Given the description of an element on the screen output the (x, y) to click on. 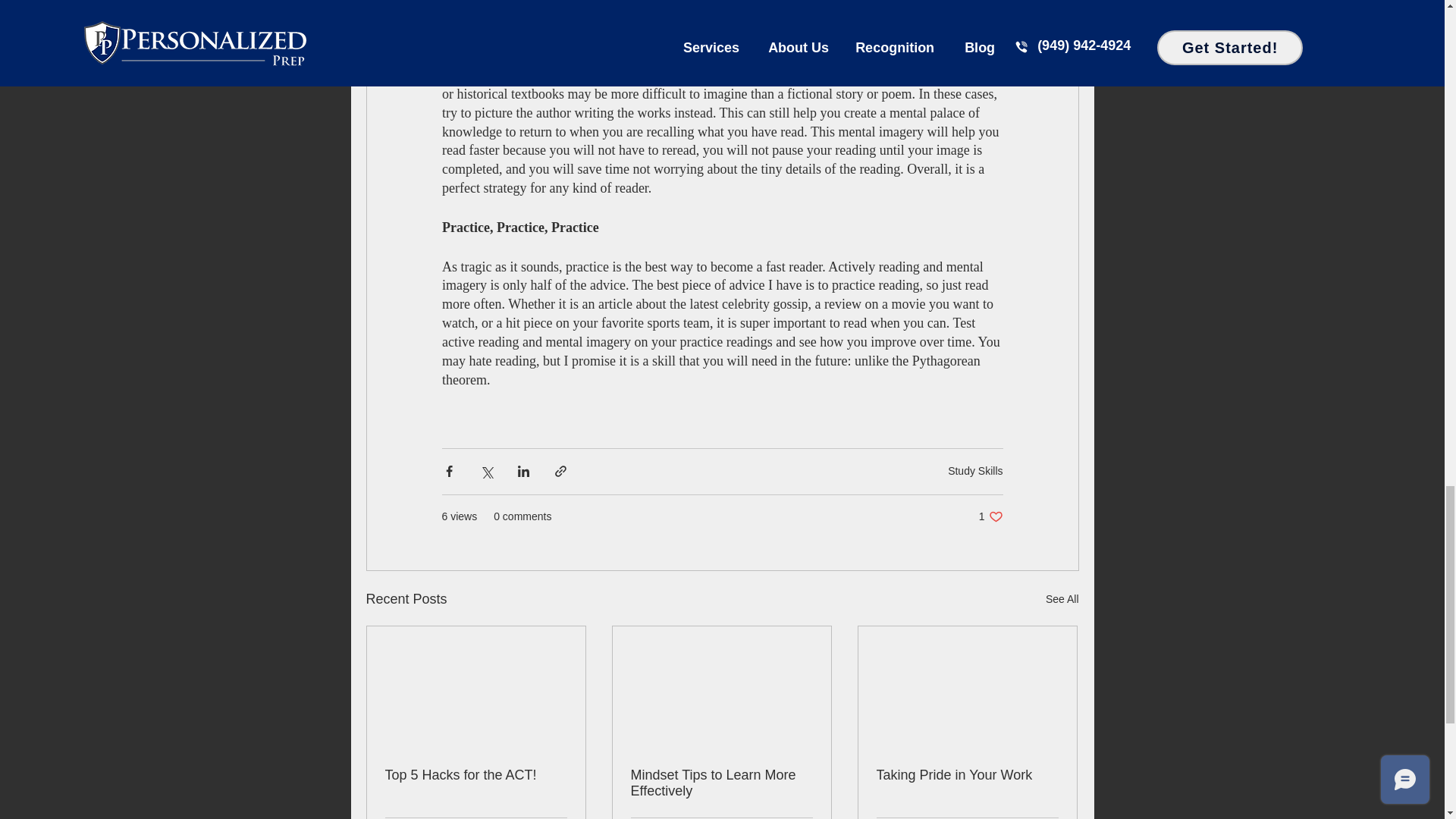
See All (1061, 599)
Top 5 Hacks for the ACT! (476, 774)
Study Skills (975, 470)
Mindset Tips to Learn More Effectively (721, 783)
